Given the description of an element on the screen output the (x, y) to click on. 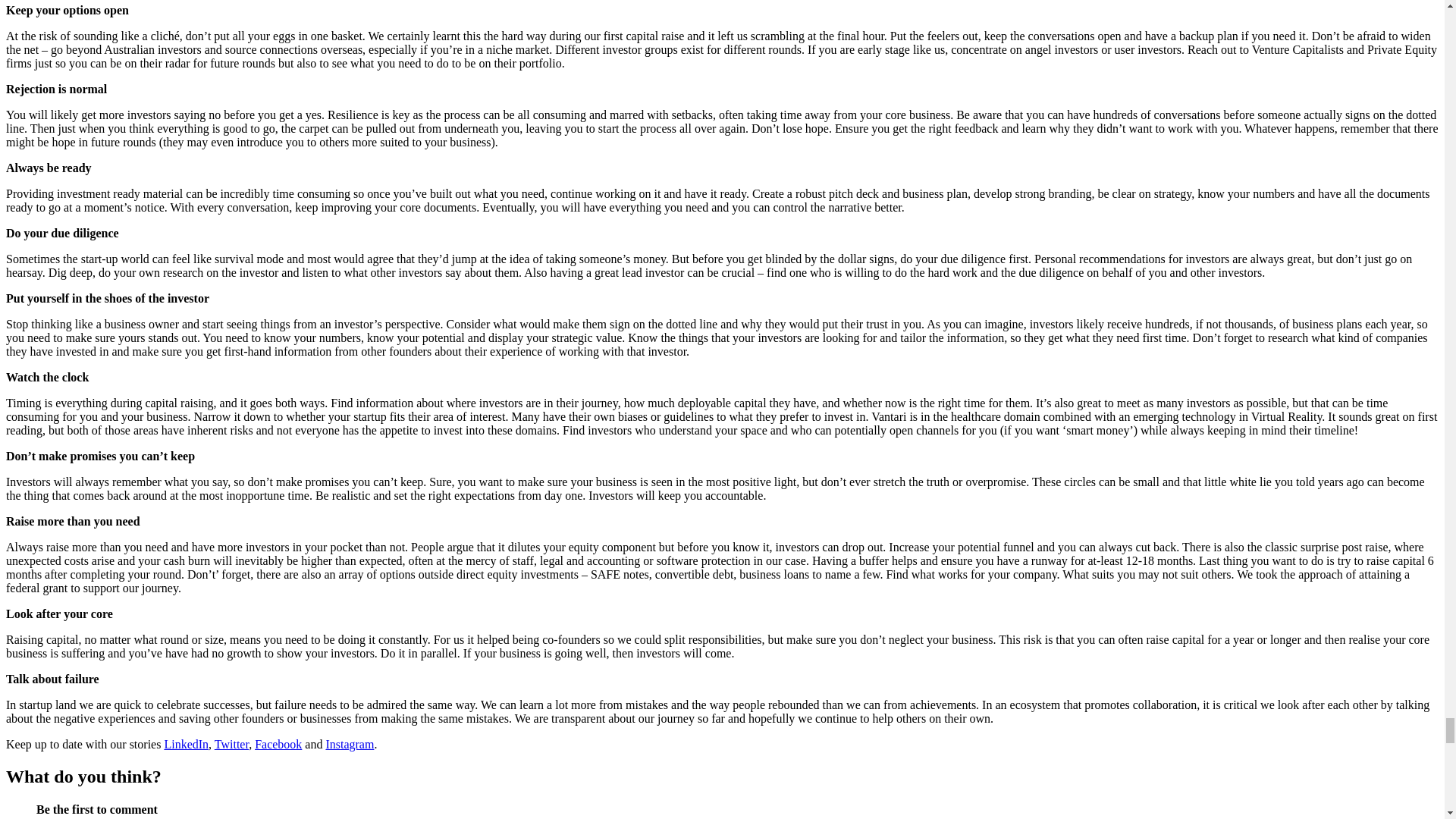
LinkedIn (185, 744)
Facebook (277, 744)
Twitter (231, 744)
Instagram (349, 744)
